Given the description of an element on the screen output the (x, y) to click on. 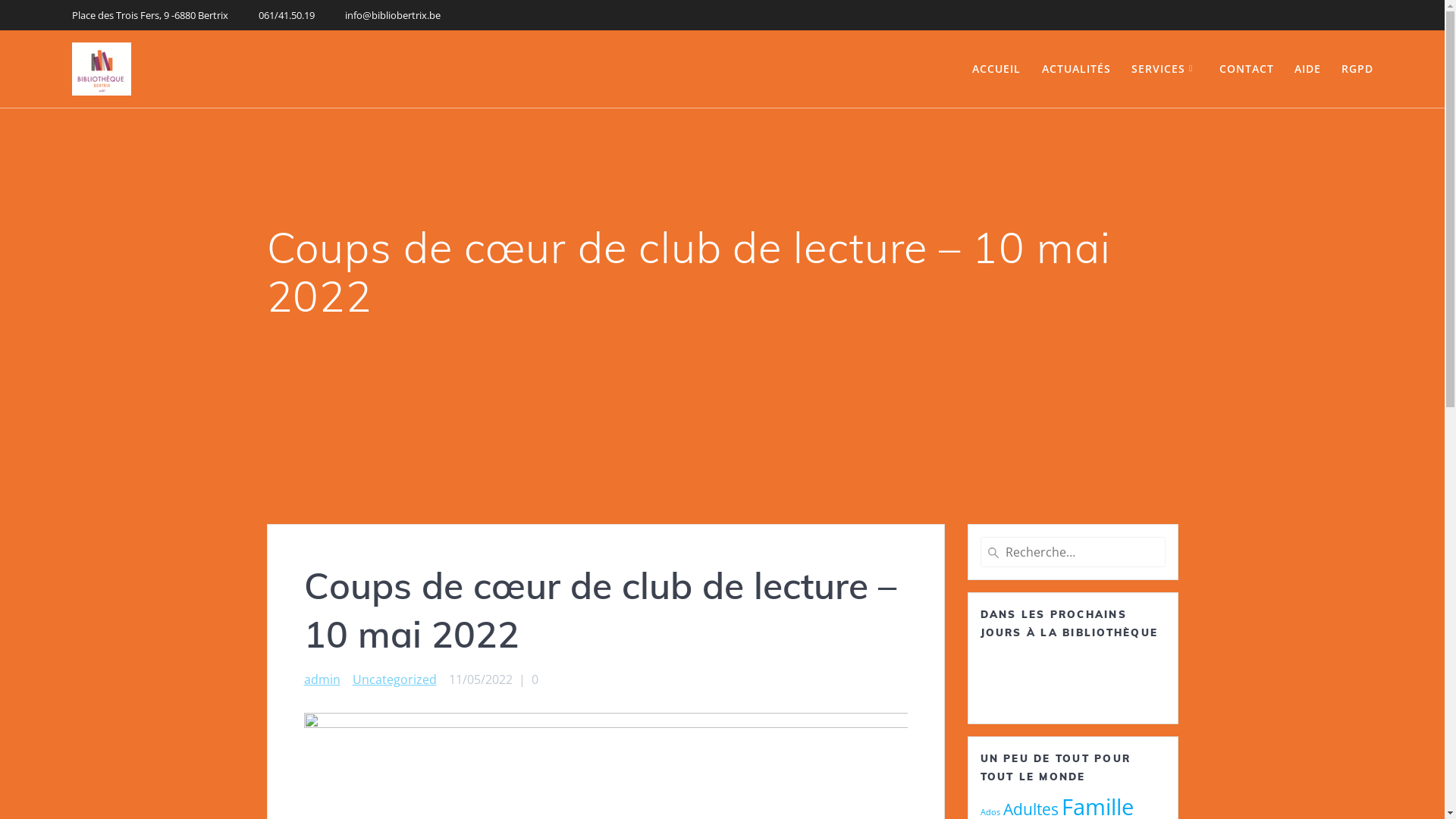
SERVICES Element type: text (1164, 68)
AIDE Element type: text (1307, 68)
Uncategorized Element type: text (393, 679)
admin Element type: text (321, 679)
Ados Element type: text (989, 811)
CONTACT Element type: text (1246, 68)
ACCUEIL Element type: text (996, 68)
RGPD Element type: text (1357, 68)
